Given the description of an element on the screen output the (x, y) to click on. 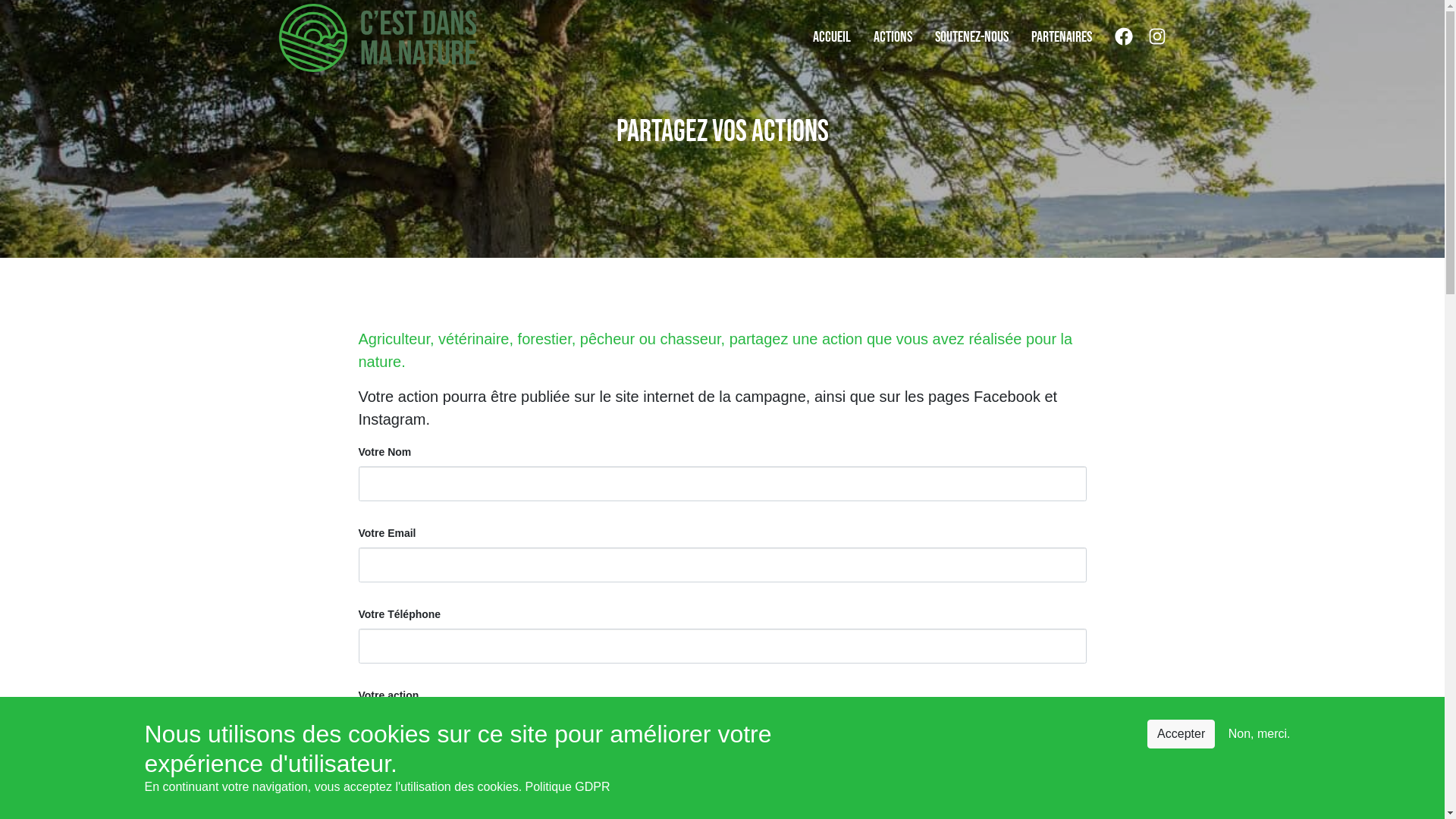
PARTENAIRES Element type: text (1061, 37)
Non, merci. Element type: text (1259, 733)
Accepter Element type: text (1180, 733)
SOUTENEZ-NOUS Element type: text (970, 37)
Politique GDPR Element type: text (567, 786)
ACTIONS Element type: text (892, 37)
ACCUEIL Element type: text (831, 37)
